Given the description of an element on the screen output the (x, y) to click on. 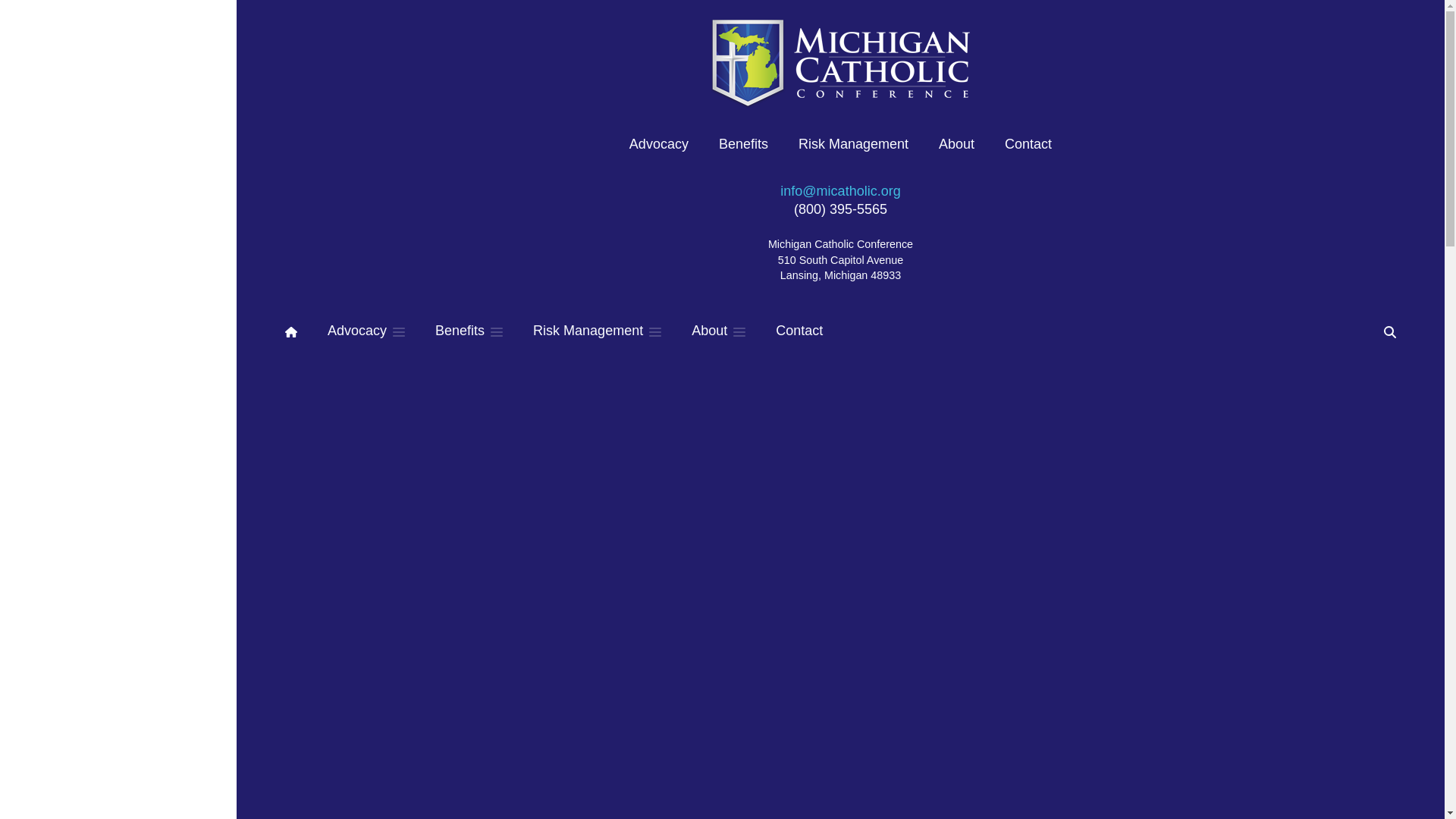
About (718, 331)
Advocacy (365, 331)
Lansing Update (589, 725)
Contact (798, 331)
Benefits (469, 331)
Lansing Update (589, 492)
Newsroom (392, 324)
Advocacy (339, 324)
Lansing Update (460, 324)
Risk Management (596, 331)
January 30, 2009 (664, 524)
Home (298, 324)
Join the Catholic Advocacy Network (1004, 407)
December 12, 2008 (675, 758)
